Given the description of an element on the screen output the (x, y) to click on. 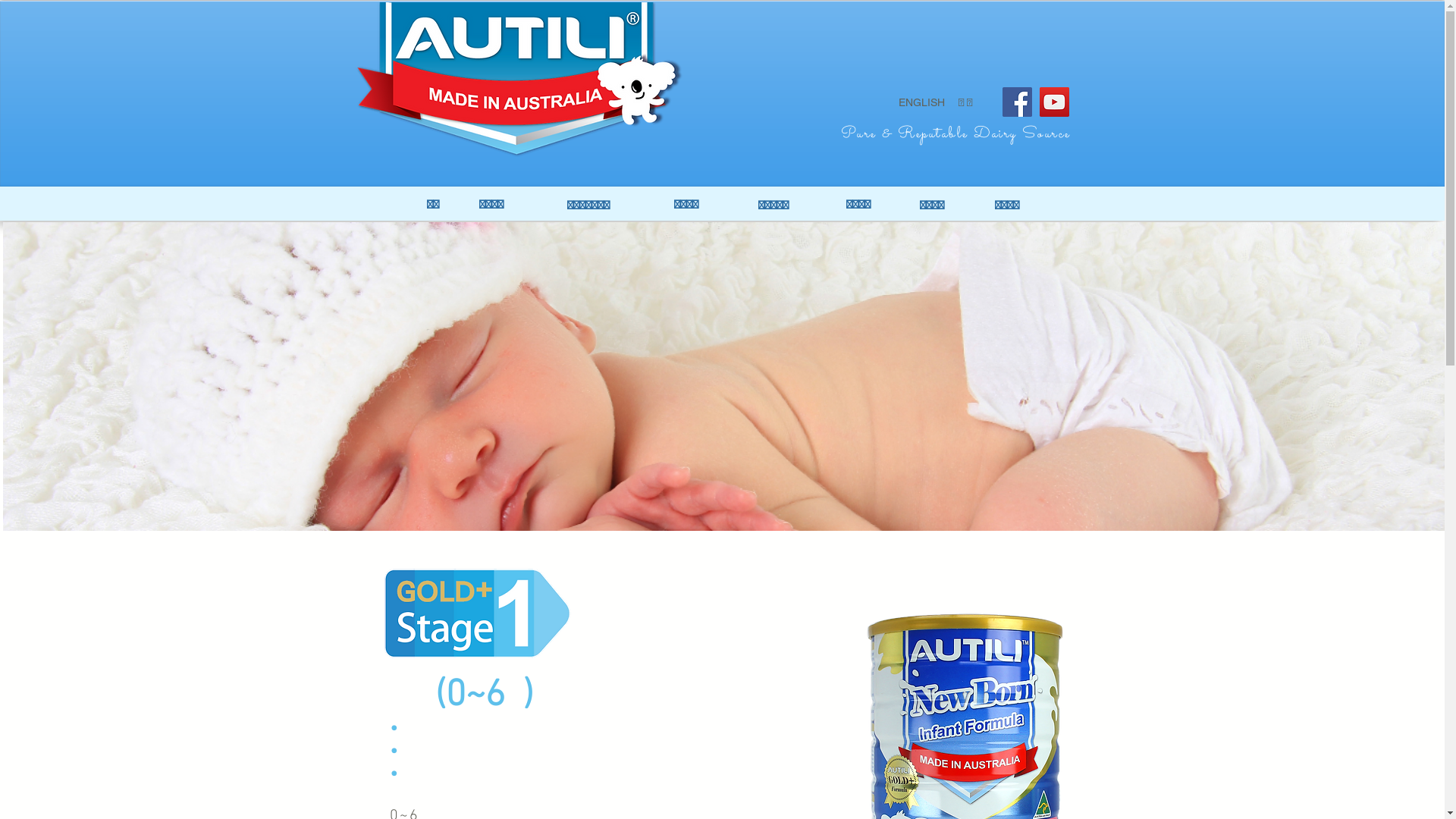
ENGLISH Element type: text (920, 102)
Autili logo-01-01.png Element type: hover (520, 79)
s1-04.png Element type: hover (474, 612)
11067973_xxl_edited.jpg Element type: hover (725, 376)
